Given the description of an element on the screen output the (x, y) to click on. 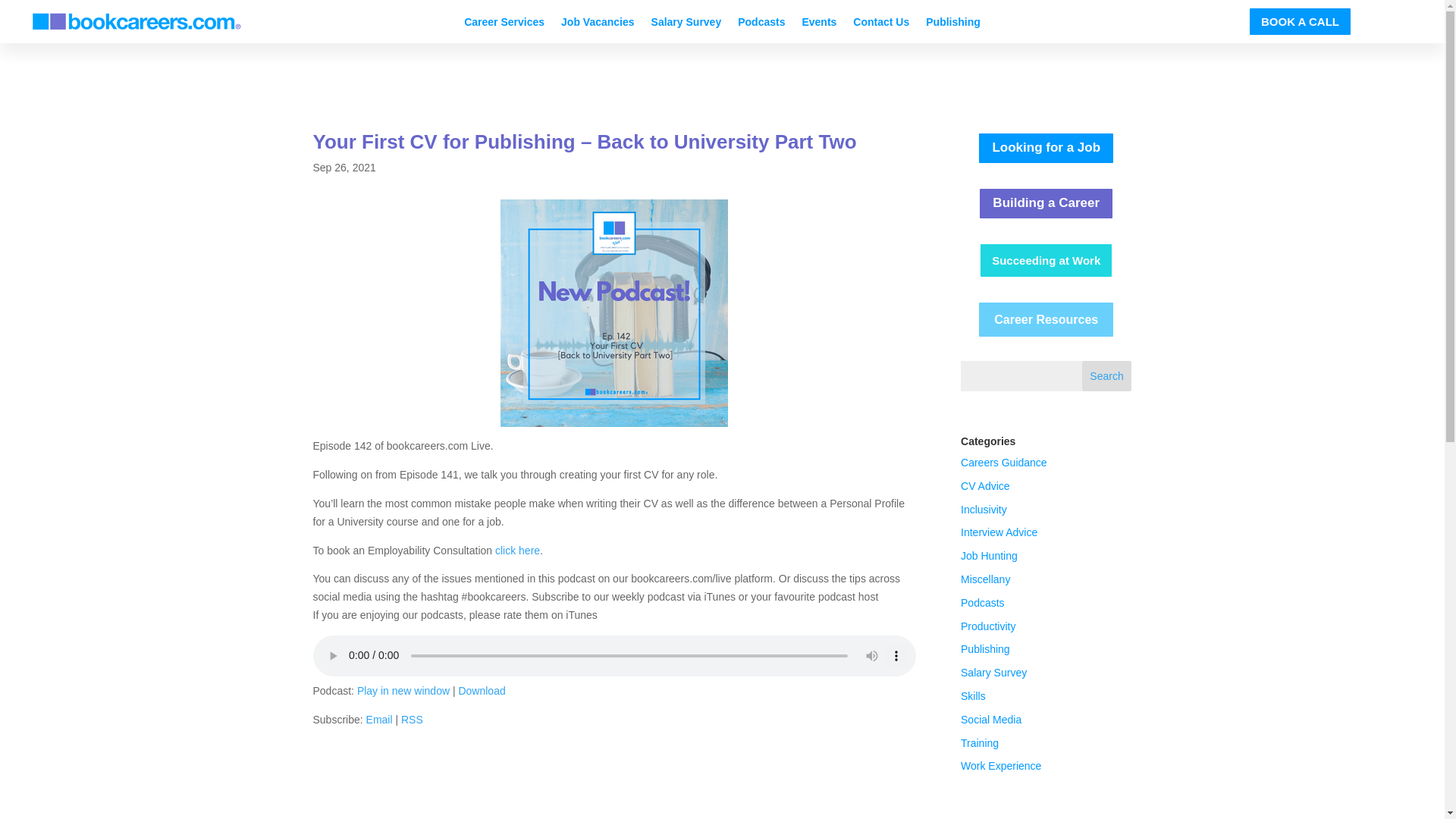
Email (379, 719)
Play in new window (402, 690)
Search (1106, 376)
Events (818, 24)
Career Resources (1045, 319)
BOOK A CALL (1299, 21)
Subscribe via RSS (412, 719)
click here (517, 550)
Salary Survey (686, 24)
Building a Career (1045, 203)
Podcasts (982, 603)
Podcasts (761, 24)
Publishing (952, 24)
Publishing (985, 648)
Social Media (991, 719)
